Given the description of an element on the screen output the (x, y) to click on. 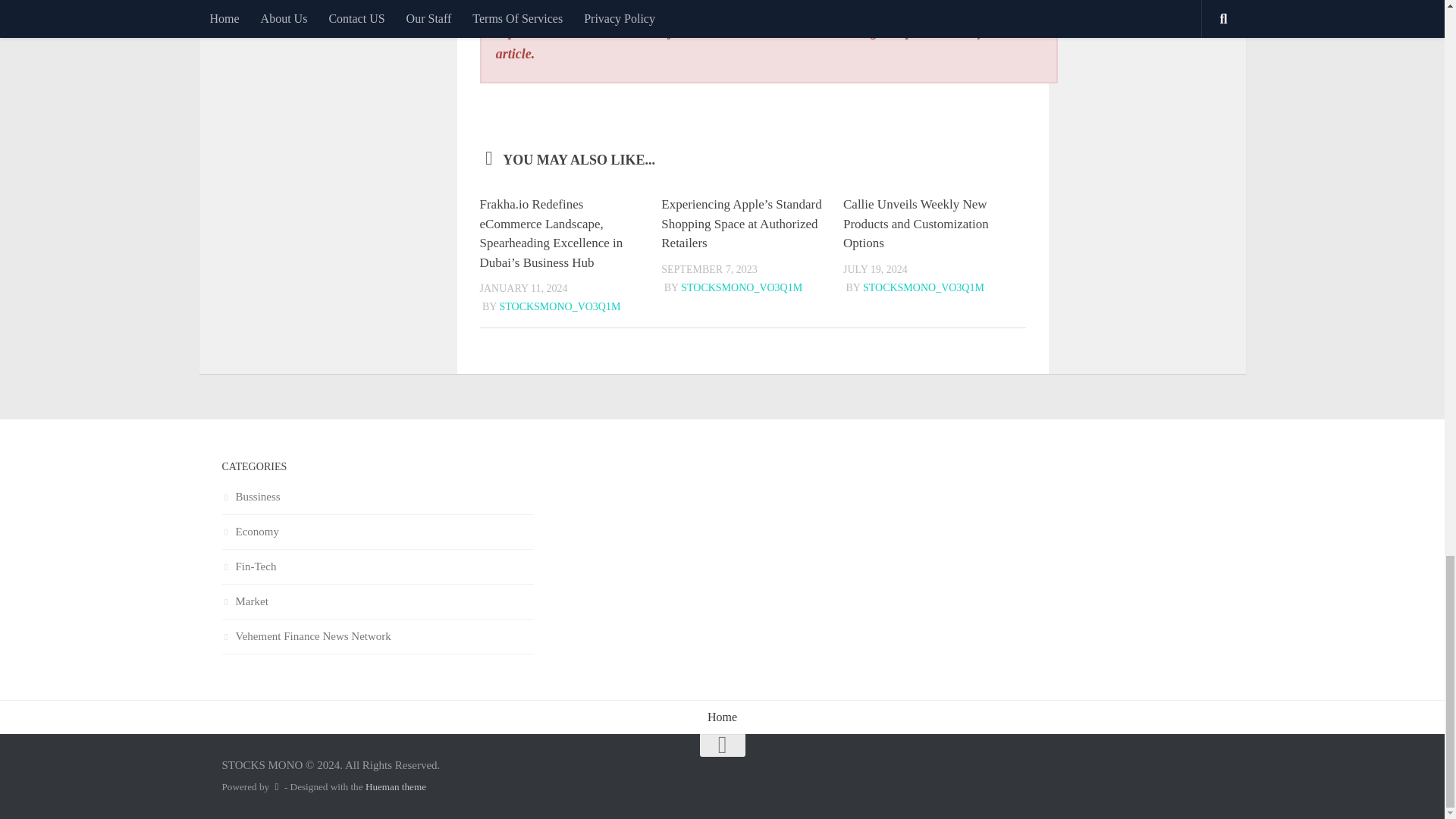
Callie Unveils Weekly New Products and Customization Options (915, 223)
